Given the description of an element on the screen output the (x, y) to click on. 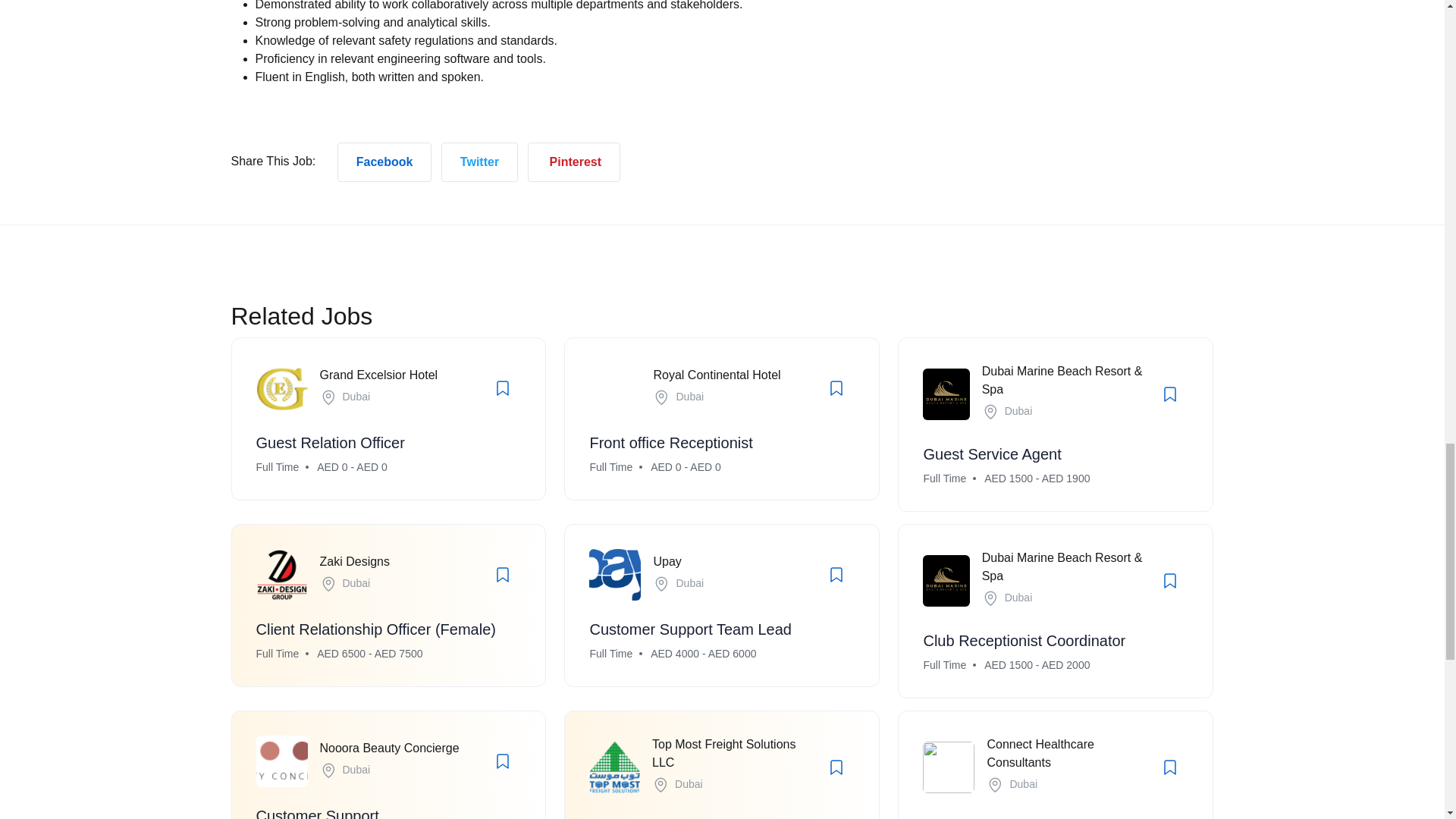
Facebook (384, 161)
Pinterest (573, 160)
Twitter (479, 161)
Twitter (479, 160)
Grand Excelsior Hotel (379, 374)
Royal Continental Hotel (716, 374)
Pinterest (573, 161)
Guest Service Agent (992, 453)
Guest Relation Officer (330, 442)
Zaki Designs (355, 561)
